Given the description of an element on the screen output the (x, y) to click on. 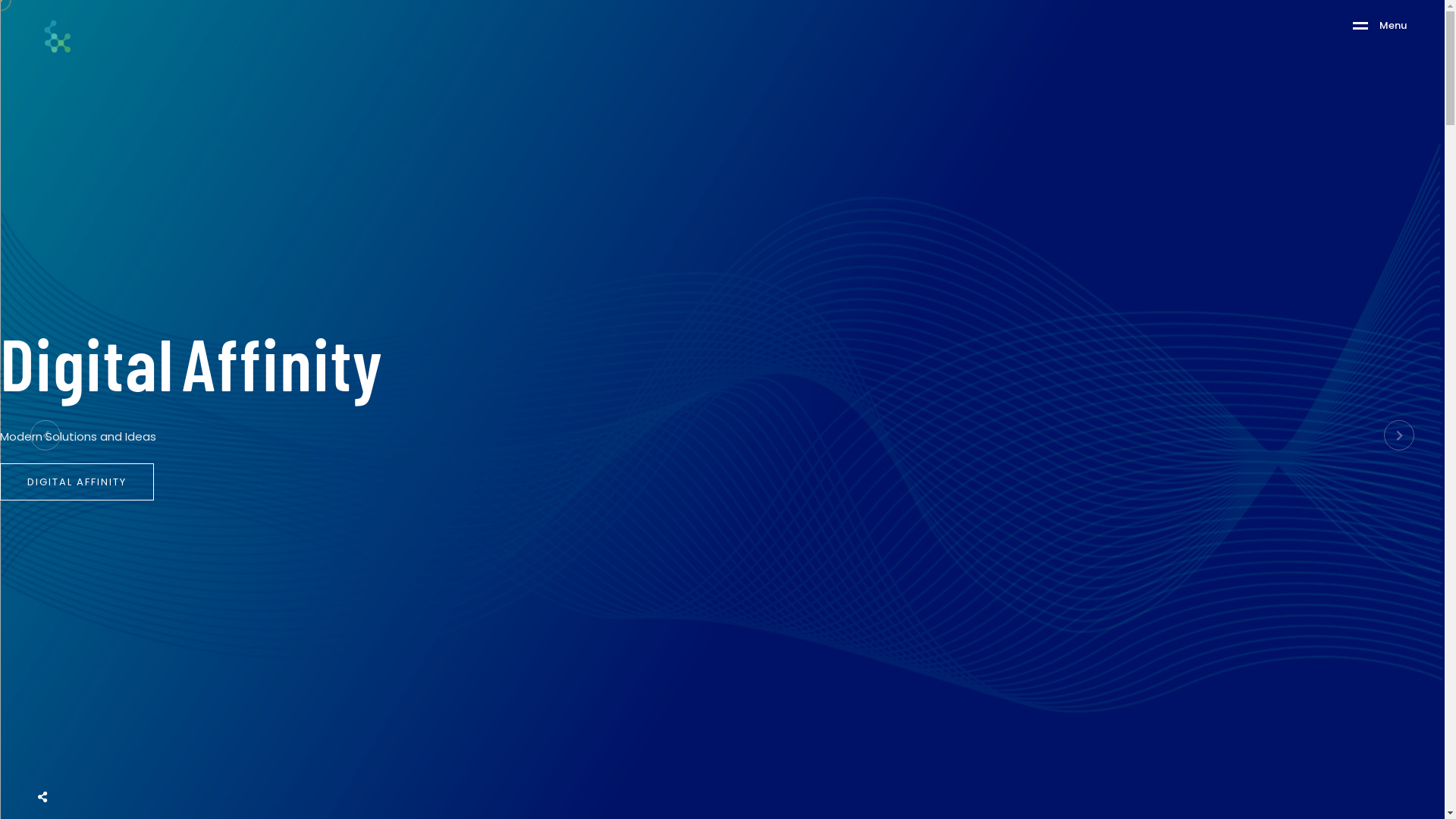
DIGITAL AFFINITY Element type: text (76, 481)
Digital Affinity Element type: text (191, 362)
GET IN TOUCH Element type: text (69, 389)
